Given the description of an element on the screen output the (x, y) to click on. 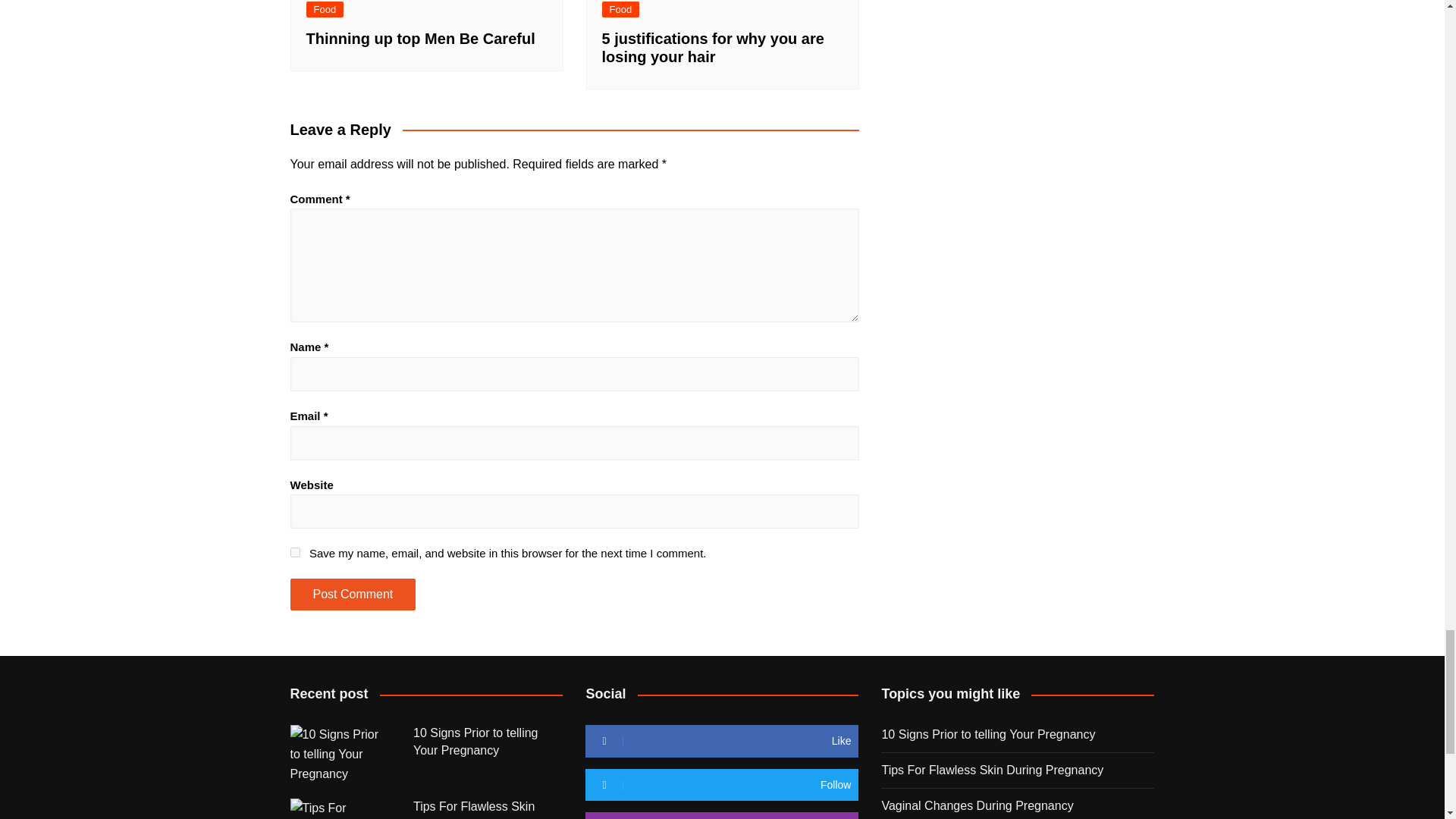
Post Comment (351, 594)
10 Signs Prior to telling Your Pregnancy (339, 753)
Tips For Flawless Skin During Pregnancy (339, 808)
yes (294, 552)
